Given the description of an element on the screen output the (x, y) to click on. 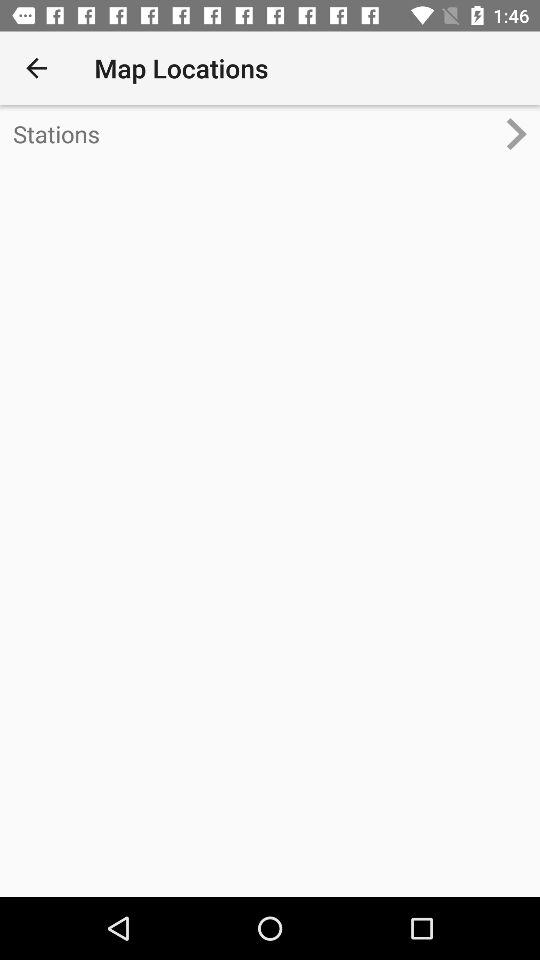
scroll to the stations (253, 134)
